Given the description of an element on the screen output the (x, y) to click on. 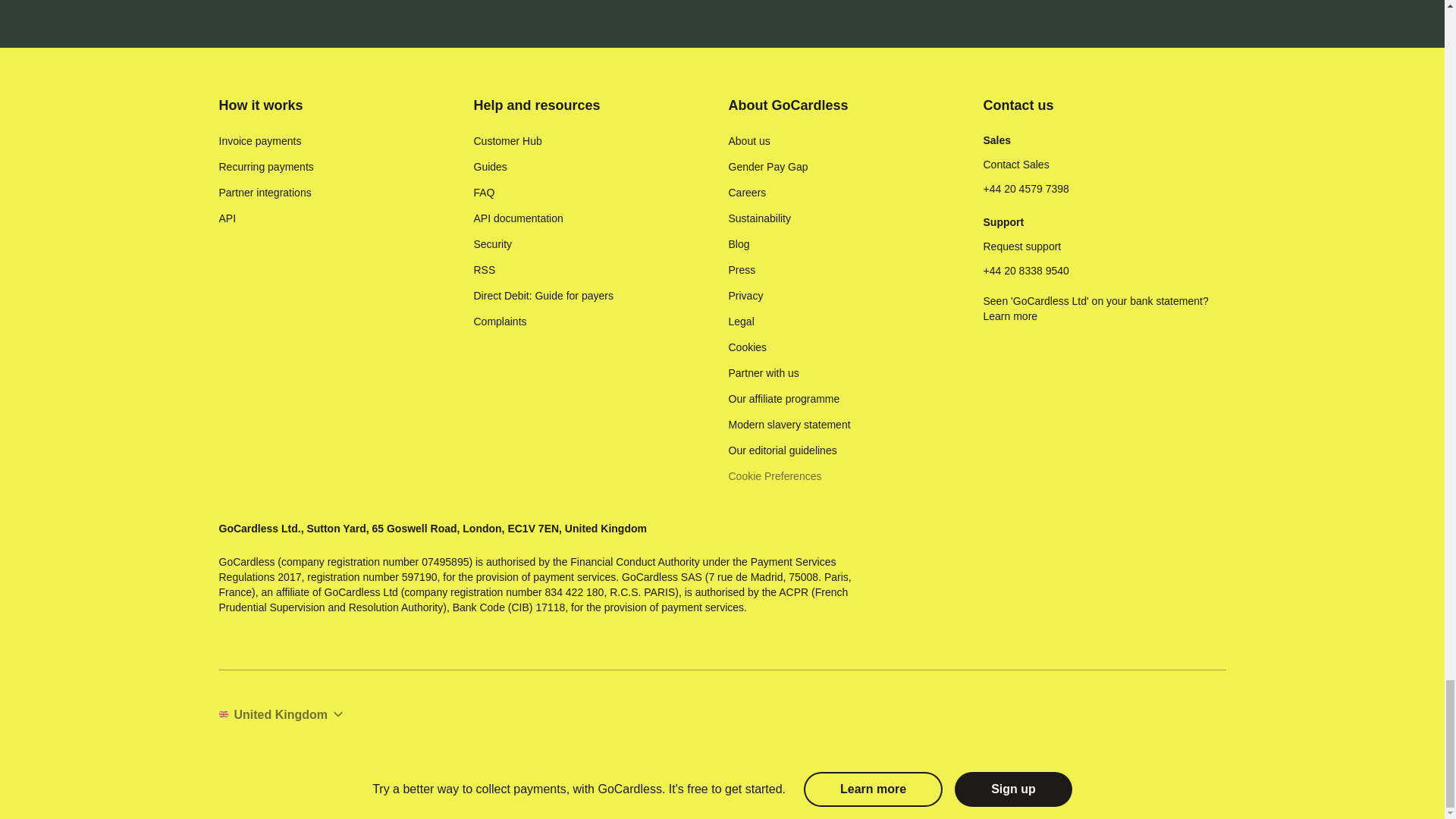
API (226, 218)
Security (492, 243)
Invoice payments (259, 140)
Gender Pay Gap (768, 166)
Recurring payments (265, 166)
Privacy (745, 295)
Careers (746, 192)
RSS (484, 269)
FAQ (484, 192)
Partner integrations (264, 192)
